Given the description of an element on the screen output the (x, y) to click on. 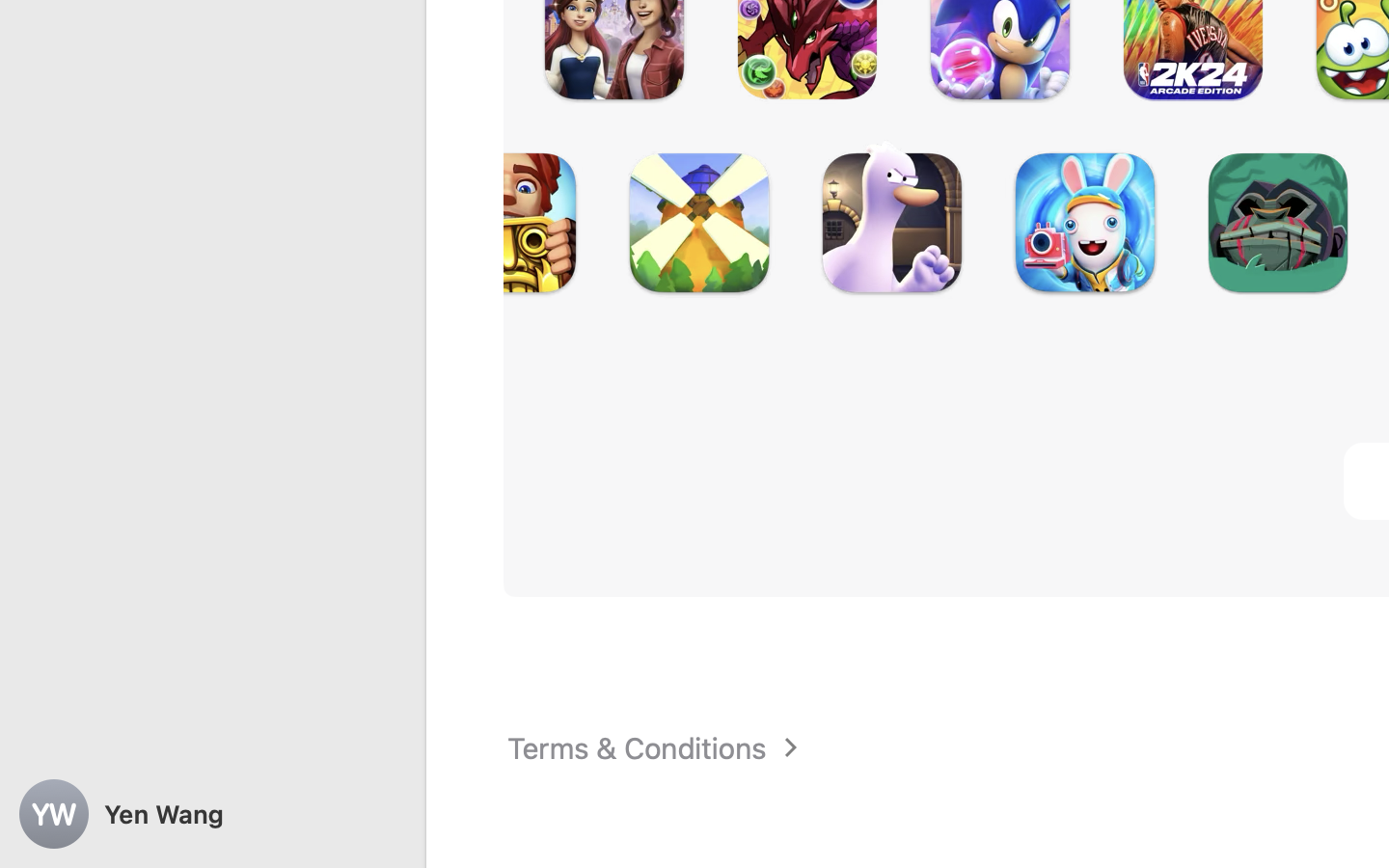
Yen Wang Element type: AXButton (212, 813)
